Given the description of an element on the screen output the (x, y) to click on. 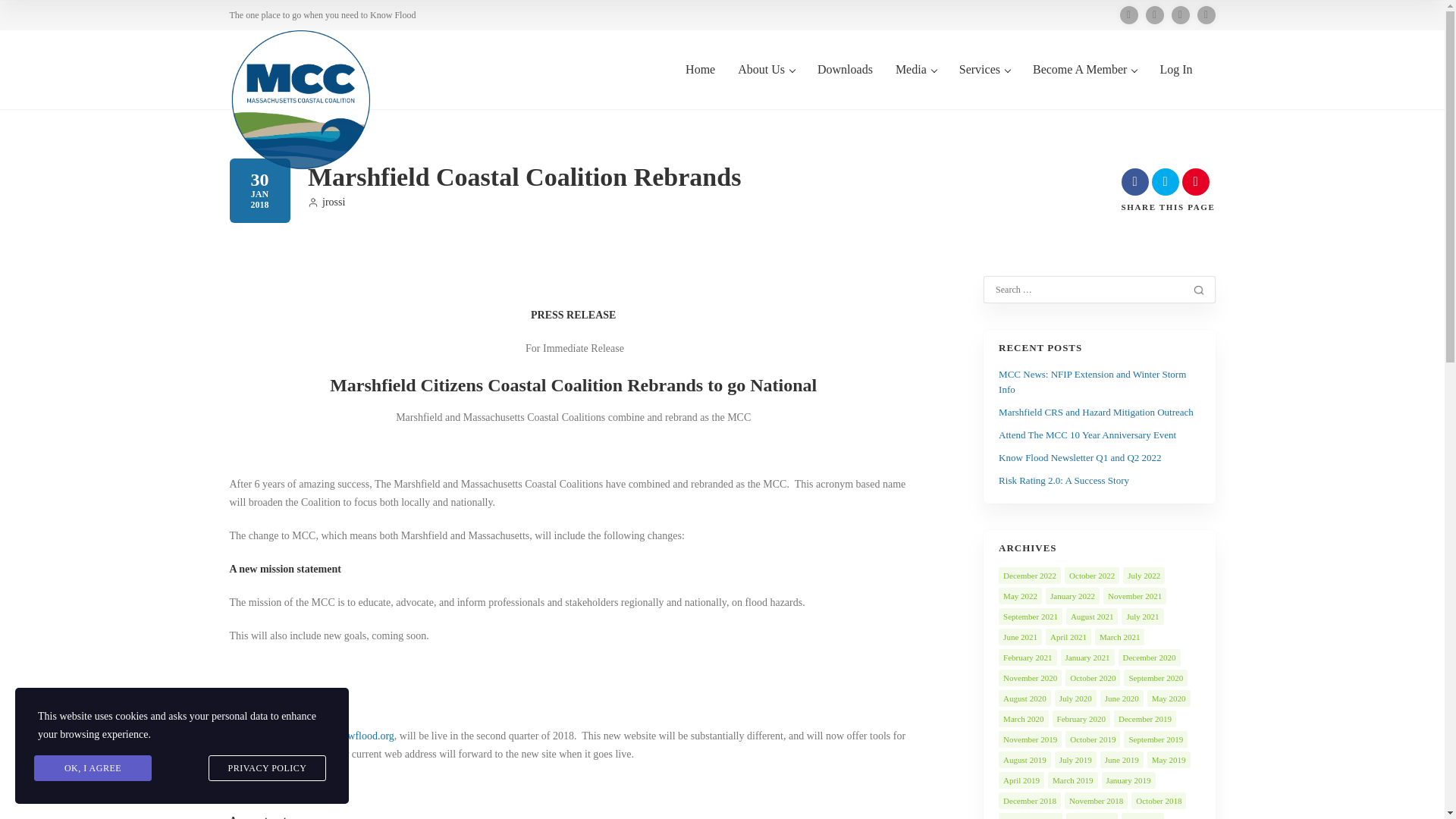
Services (984, 85)
Search for: (1087, 289)
Search (1198, 290)
About Us (766, 85)
Massachusetts Coastal Coalition (299, 99)
Become A Member (1084, 85)
Search (1198, 290)
Downloads (844, 85)
View all posts by jrossi (326, 202)
